Given the description of an element on the screen output the (x, y) to click on. 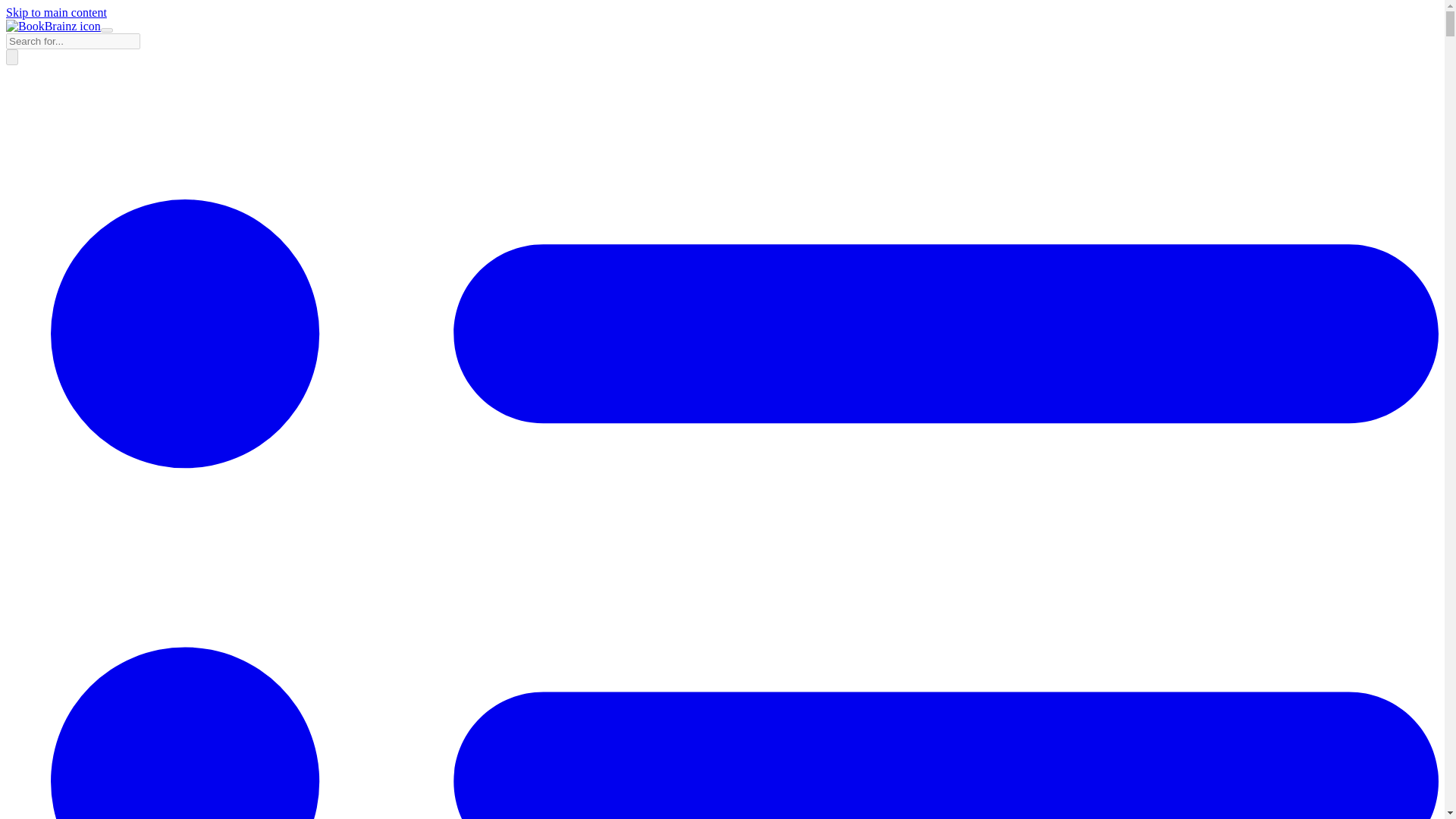
BookBrainz (52, 26)
Skip to main content (55, 11)
